Given the description of an element on the screen output the (x, y) to click on. 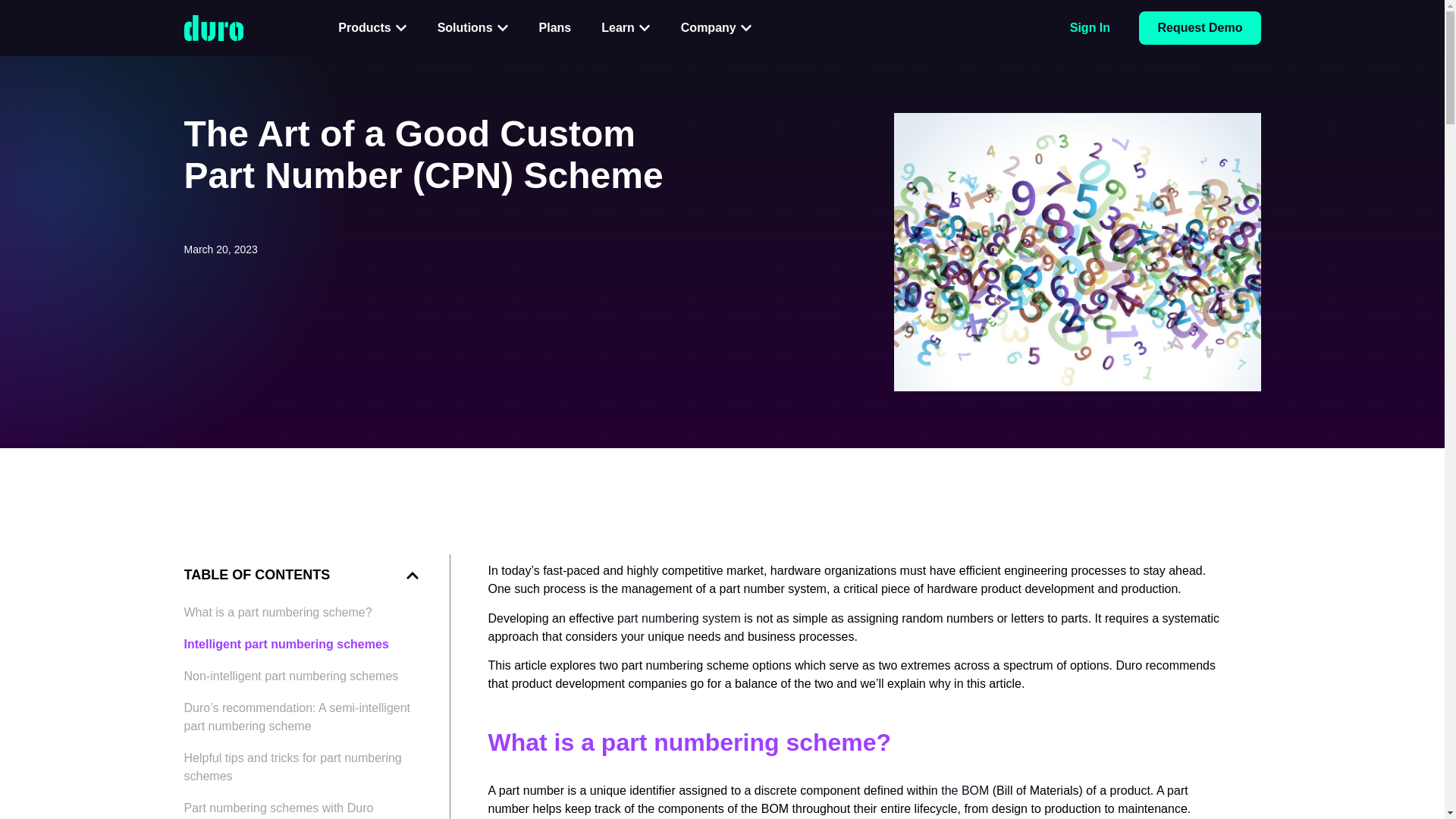
Plans (555, 27)
Sign In (1089, 27)
Request Demo (1199, 28)
